Given the description of an element on the screen output the (x, y) to click on. 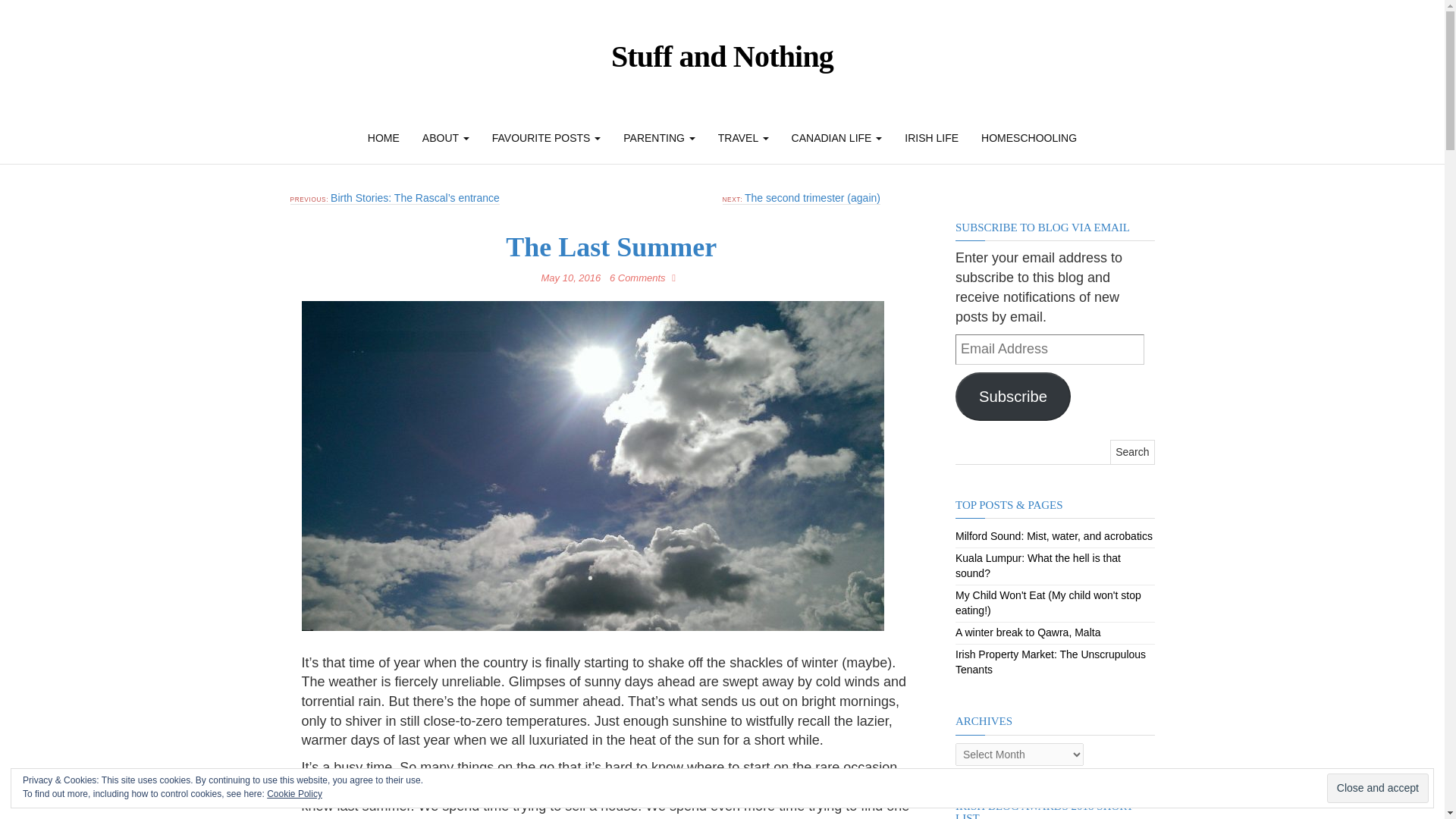
HOME (383, 137)
Favourite Posts (546, 137)
Stuff and Nothing (721, 56)
PARENTING (658, 137)
About (445, 137)
CANADIAN LIFE (836, 137)
Home (383, 137)
TRAVEL (743, 137)
ABOUT (445, 137)
IRISH LIFE (931, 137)
